Given the description of an element on the screen output the (x, y) to click on. 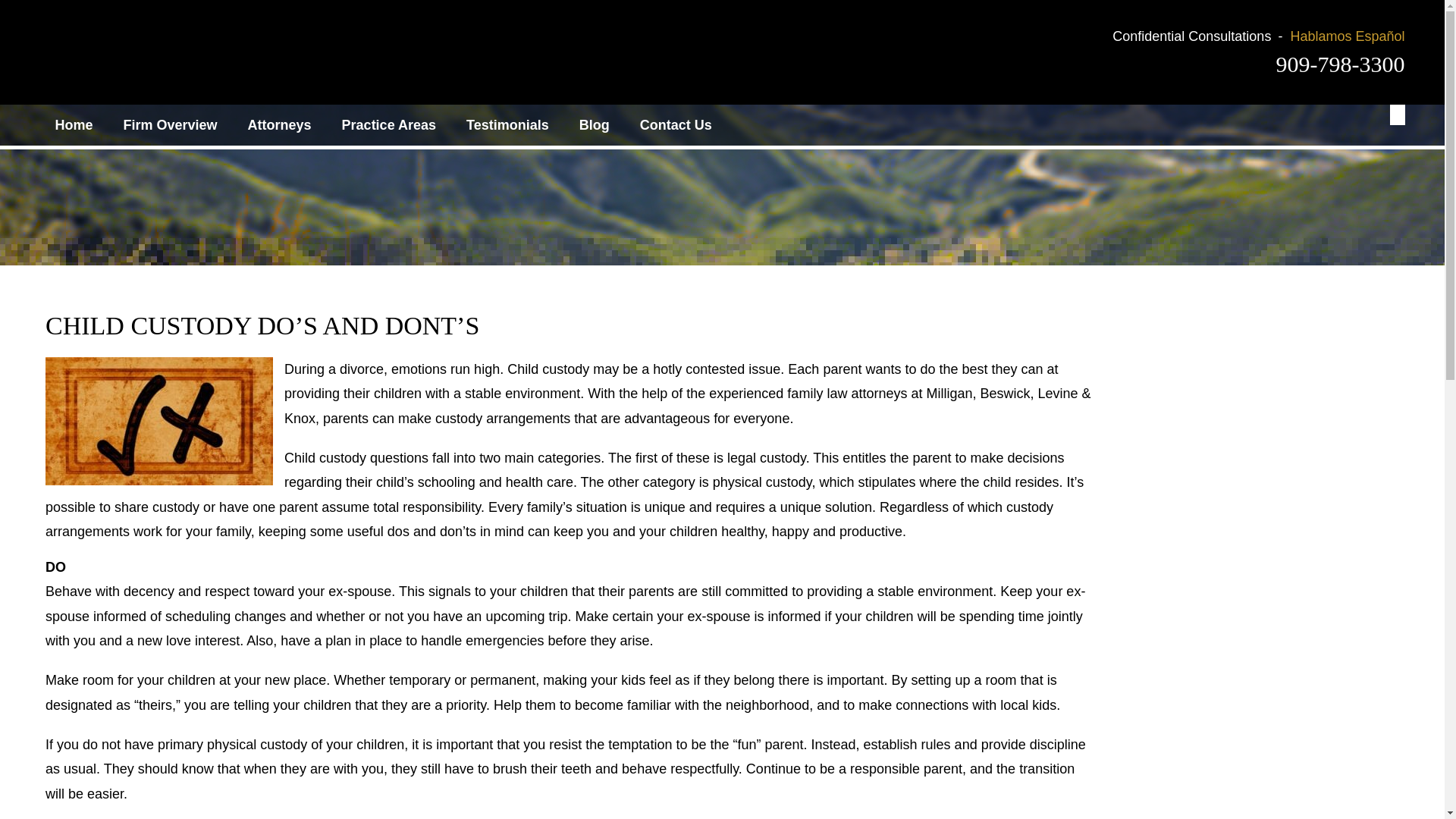
Attorneys (279, 124)
909-798-3300 (1340, 63)
Practice Areas (388, 124)
Firm Overview (169, 124)
Home (73, 124)
